Given the description of an element on the screen output the (x, y) to click on. 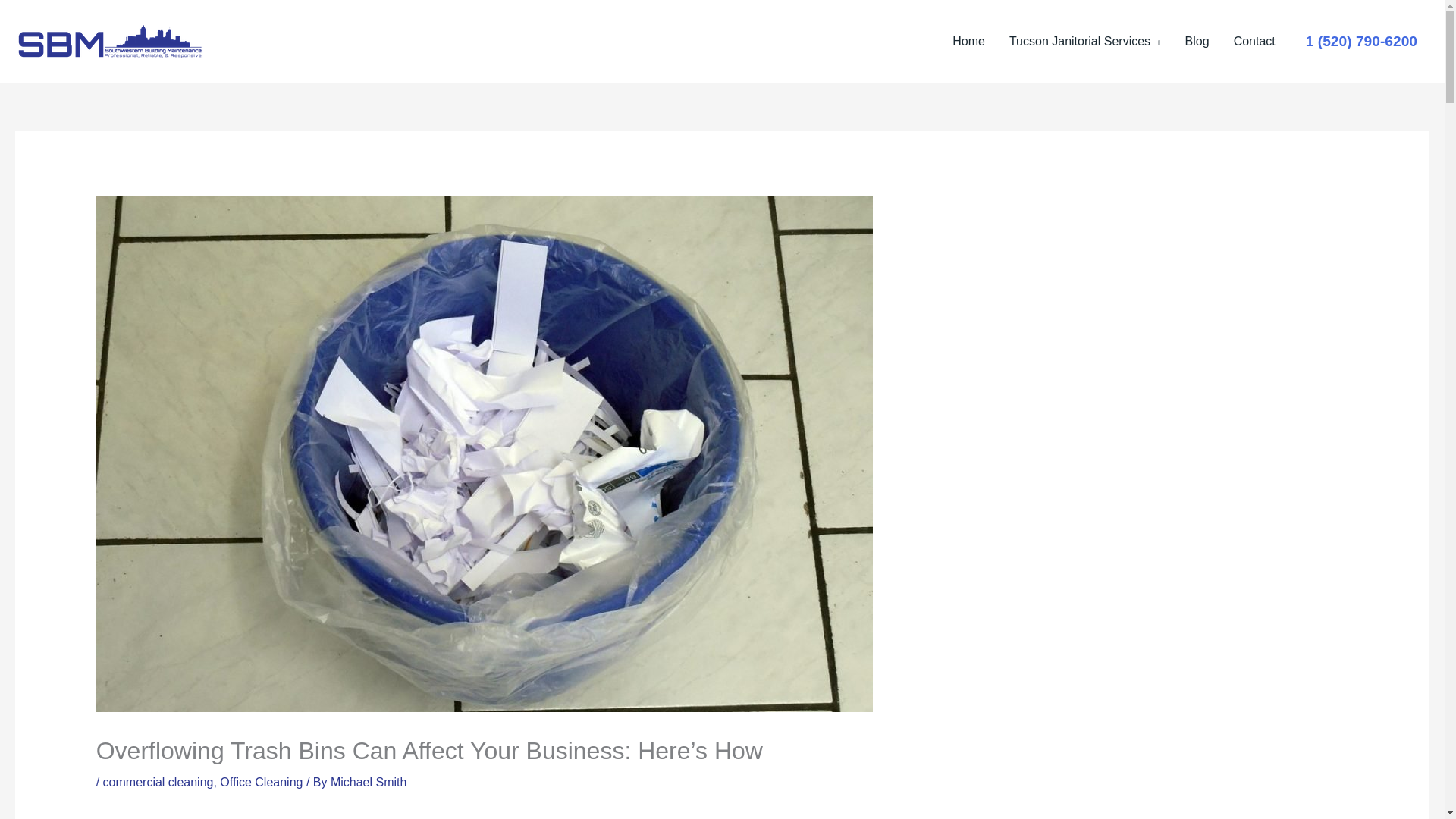
Home (968, 40)
Office Cleaning (260, 781)
Michael Smith (368, 781)
Blog (1197, 40)
Contact (1254, 40)
commercial cleaning (158, 781)
View all posts by Michael Smith (368, 781)
Tucson Janitorial Services (1085, 40)
